Given the description of an element on the screen output the (x, y) to click on. 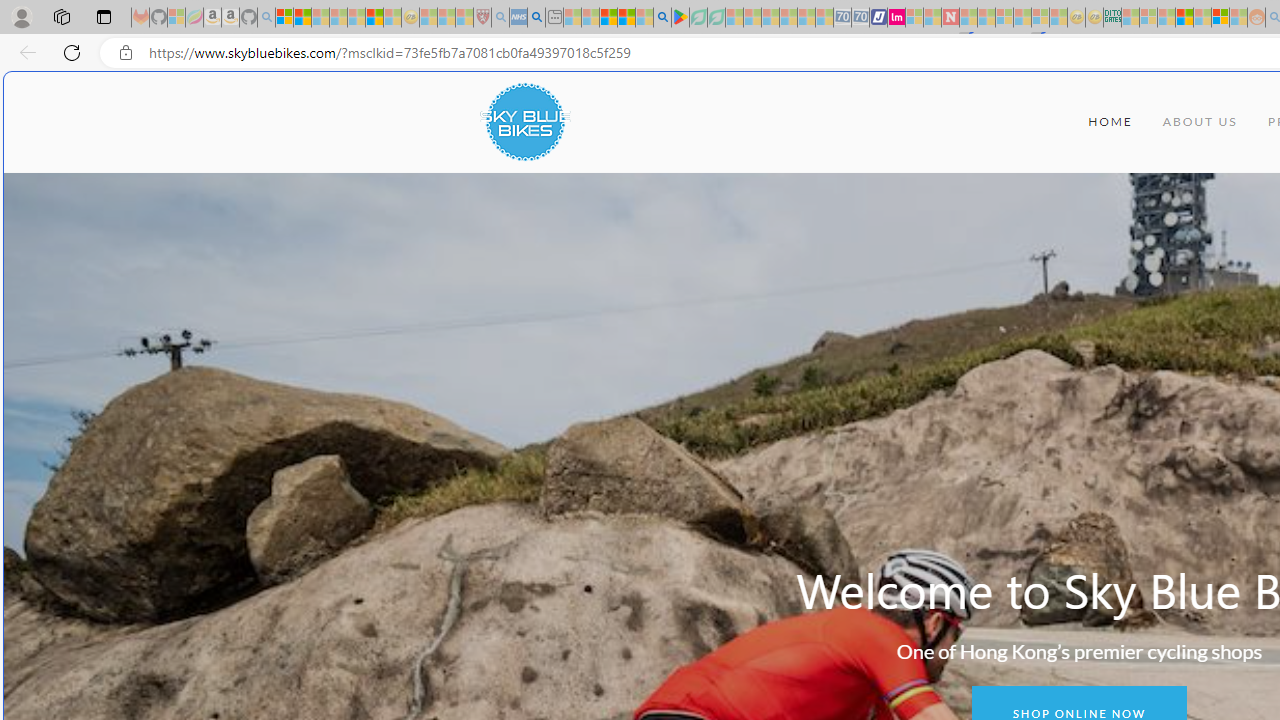
Pets - MSN (626, 17)
utah sues federal government - Search (536, 17)
ABOUT US (1199, 122)
ABOUT US (1199, 122)
